Given the description of an element on the screen output the (x, y) to click on. 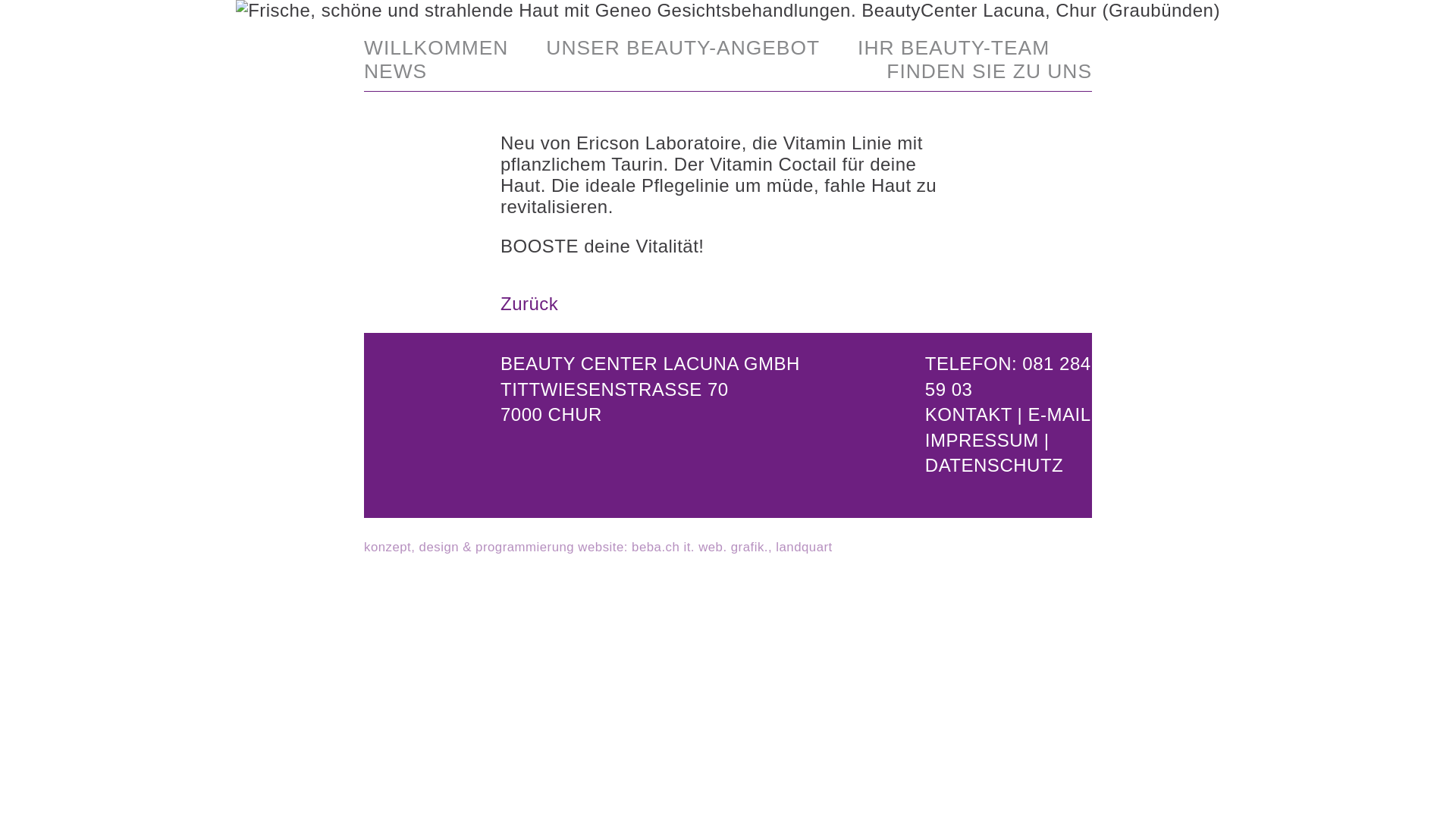
UNSER BEAUTY-ANGEBOT Element type: text (682, 47)
IMPRESSUM Element type: text (981, 439)
WILLKOMMEN Element type: text (436, 47)
IHR BEAUTY-TEAM Element type: text (953, 47)
KONTAKT Element type: text (968, 427)
FINDEN SIE ZU UNS Element type: text (989, 71)
E-MAIL Element type: text (1059, 414)
DATENSCHUTZ Element type: text (994, 465)
NEWS Element type: text (395, 71)
